Given the description of an element on the screen output the (x, y) to click on. 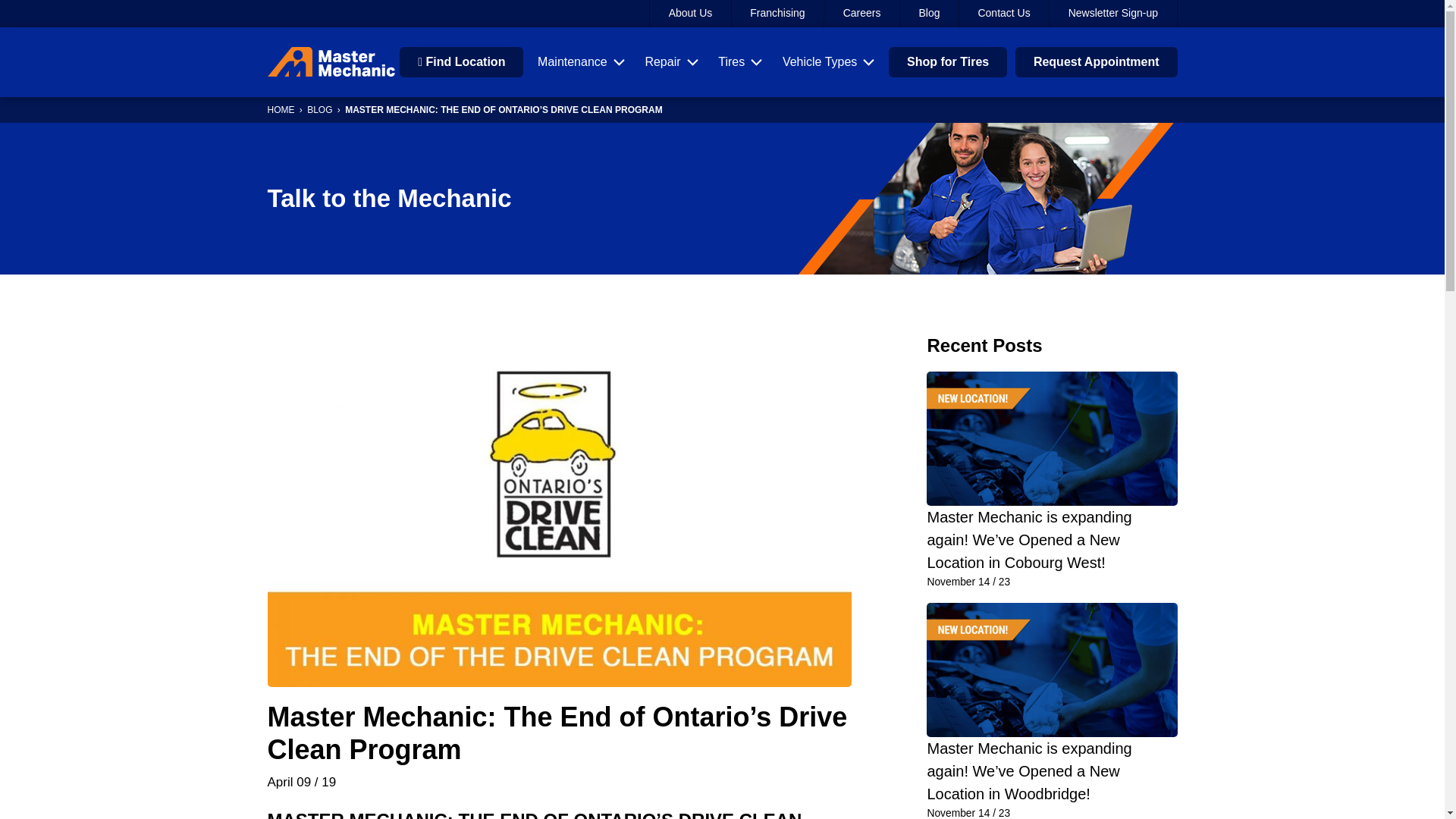
Franchising (778, 13)
Newsletter Sign-up (1112, 13)
Repair (671, 62)
Tires (739, 62)
Maintenance (580, 62)
Blog (929, 13)
Find Location (460, 61)
About Us (690, 13)
Contact Us (1004, 13)
Careers (861, 13)
